Given the description of an element on the screen output the (x, y) to click on. 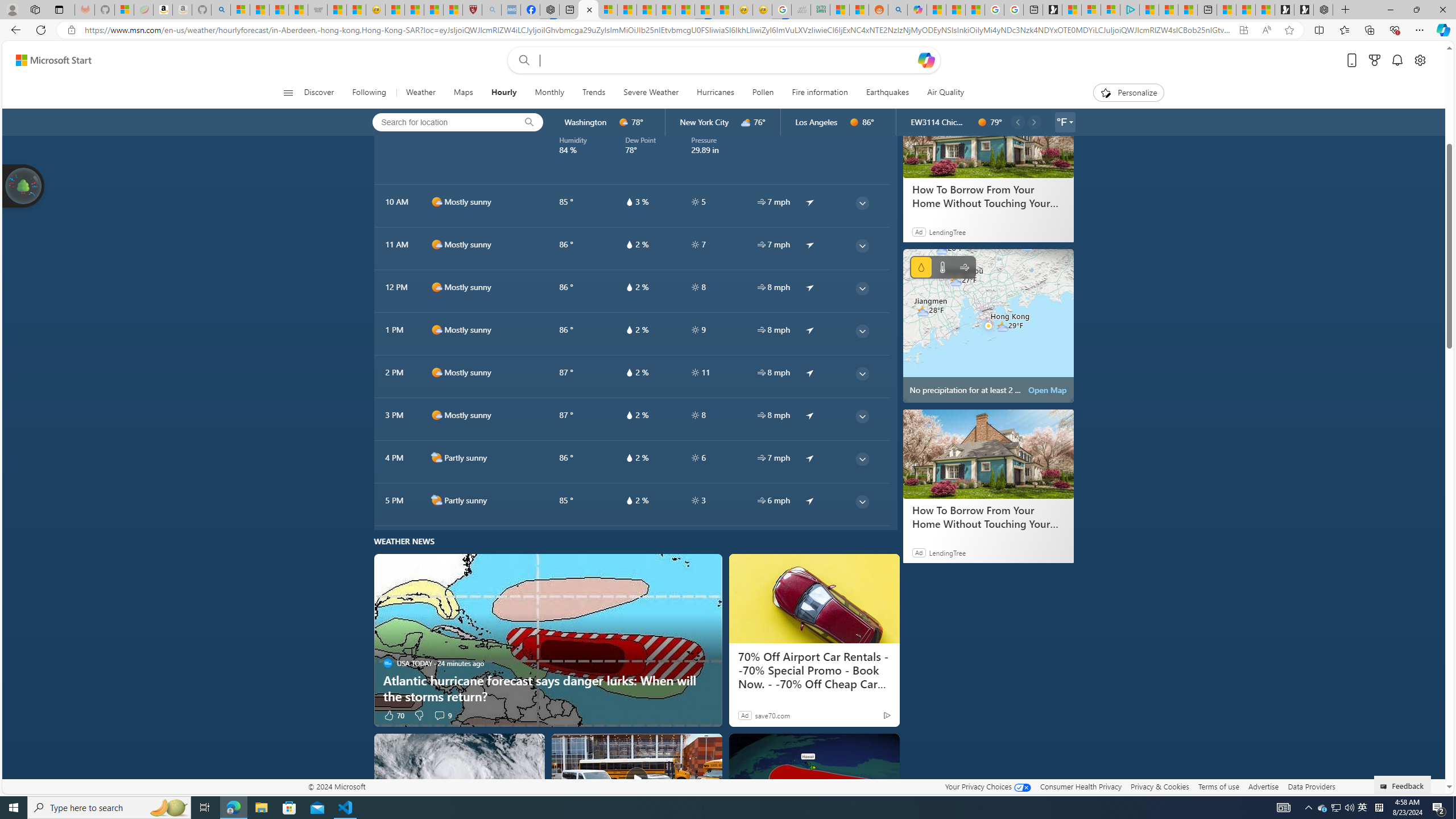
Hurricanes (715, 92)
Consumer Health Privacy (1080, 786)
Class: miniMapRadarSVGView-DS-EntryPoint1-1 (988, 325)
Air Quality (945, 92)
locationBar/triangle (1070, 122)
Fire information (819, 92)
Pollen (762, 92)
